Given the description of an element on the screen output the (x, y) to click on. 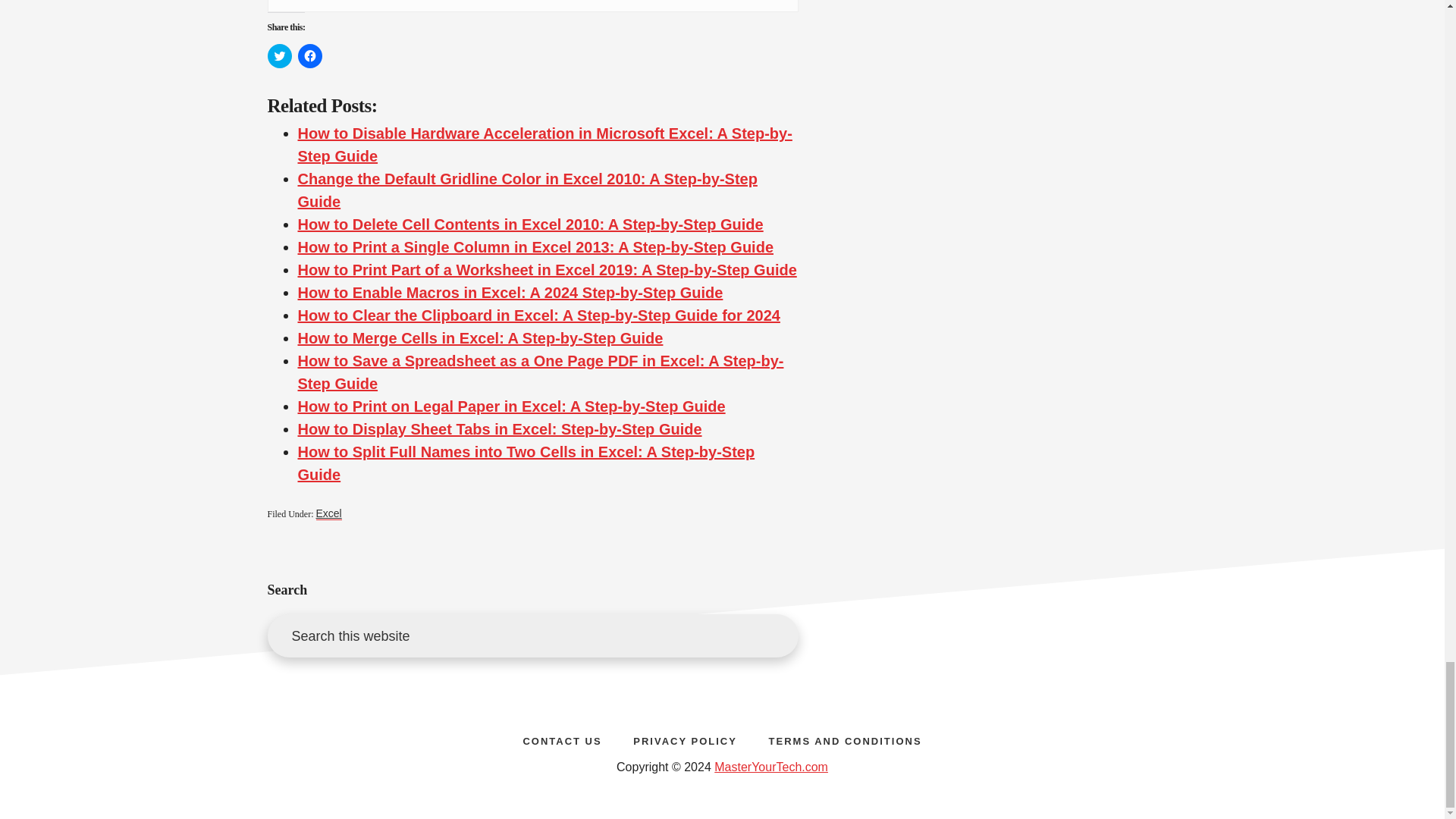
Excel (327, 513)
How to Print on Legal Paper in Excel: A Step-by-Step Guide (511, 406)
How to Display Sheet Tabs in Excel: Step-by-Step Guide (499, 428)
How to Merge Cells in Excel: A Step-by-Step Guide (479, 338)
